Given the description of an element on the screen output the (x, y) to click on. 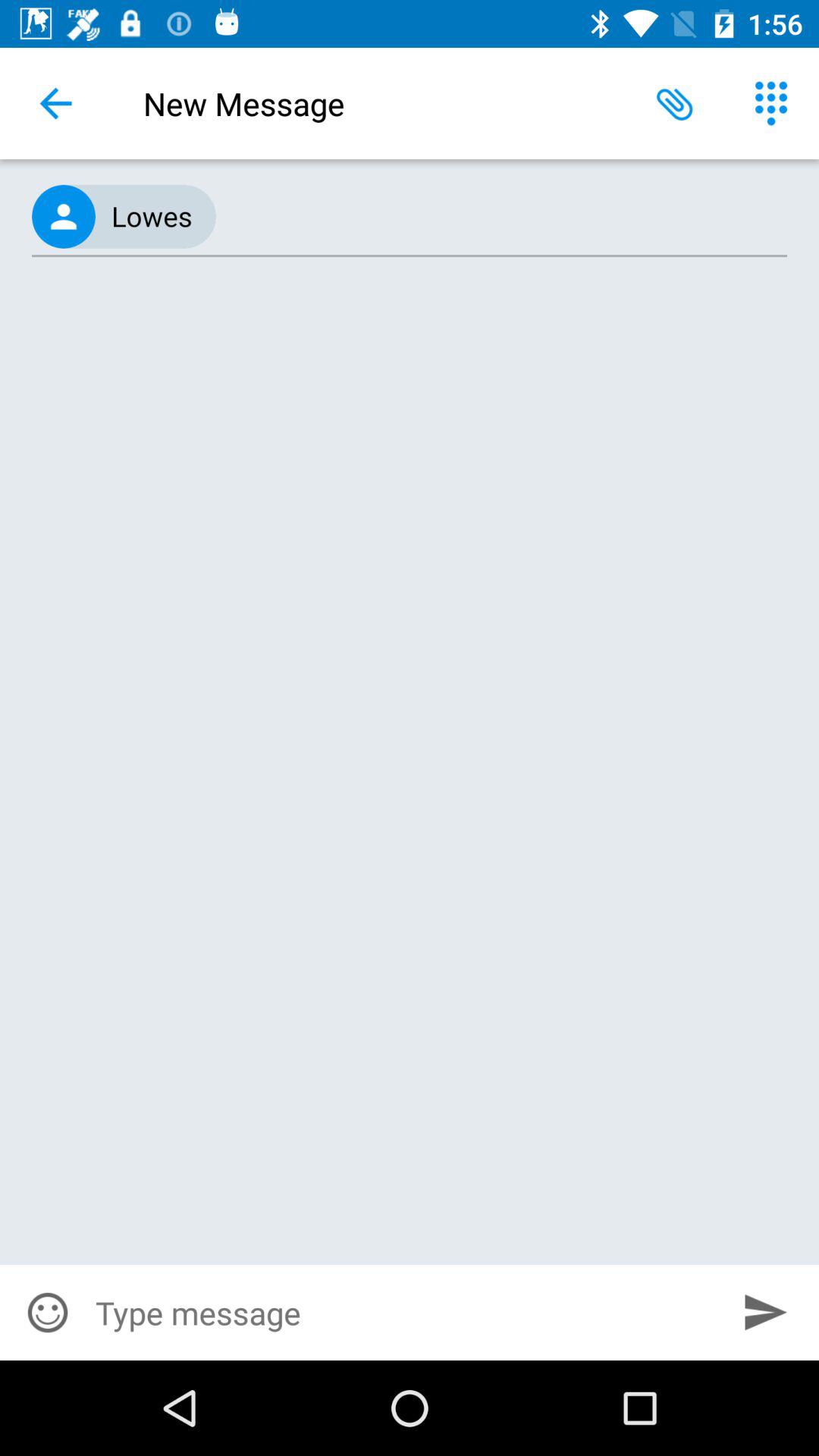
tap icon to the left of new message icon (55, 103)
